Given the description of an element on the screen output the (x, y) to click on. 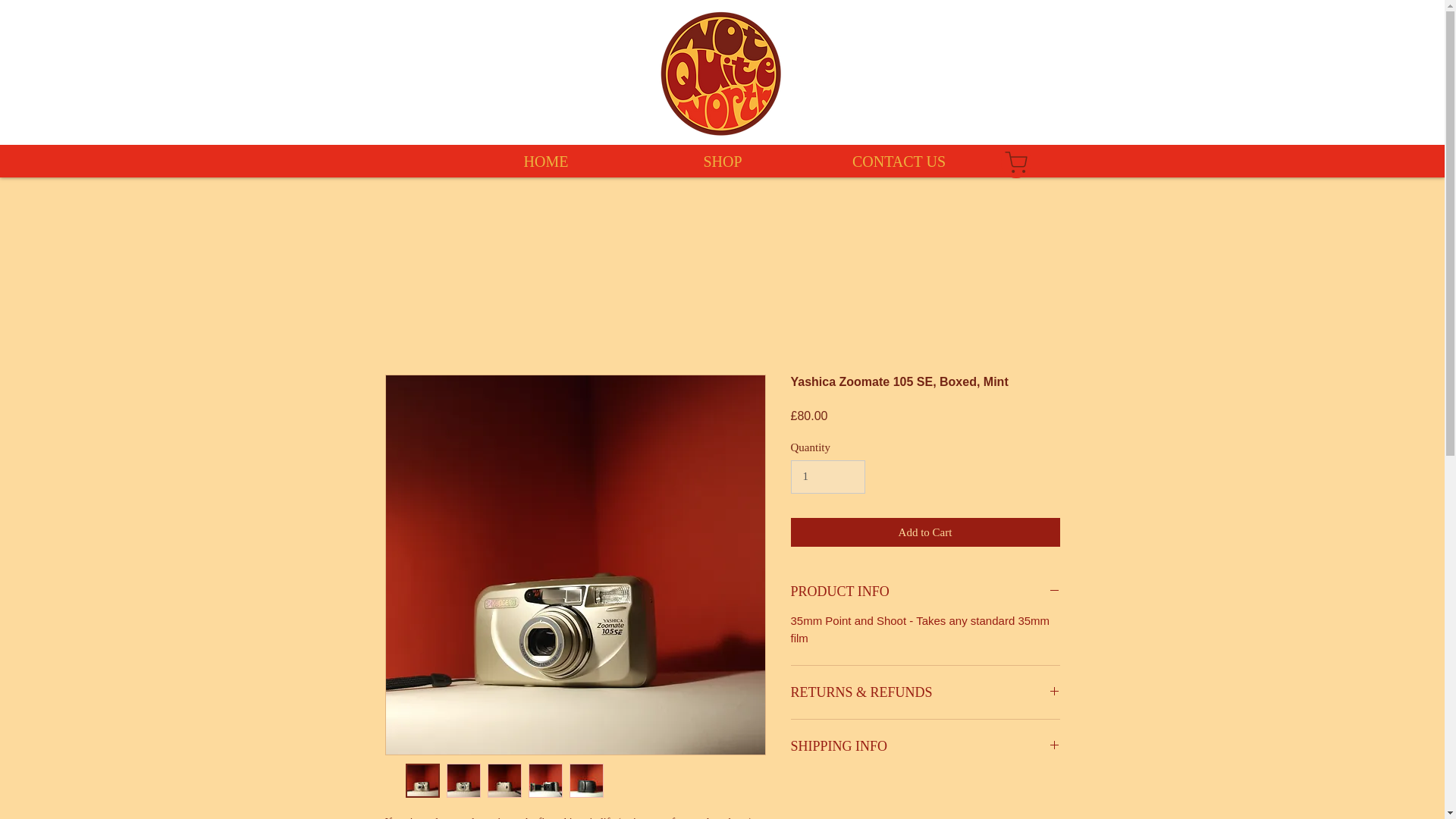
PRODUCT INFO (924, 591)
CONTACT US (898, 161)
HOME (546, 161)
1 (827, 476)
SHIPPING INFO (924, 745)
Add to Cart (924, 532)
SHOP (721, 161)
